Given the description of an element on the screen output the (x, y) to click on. 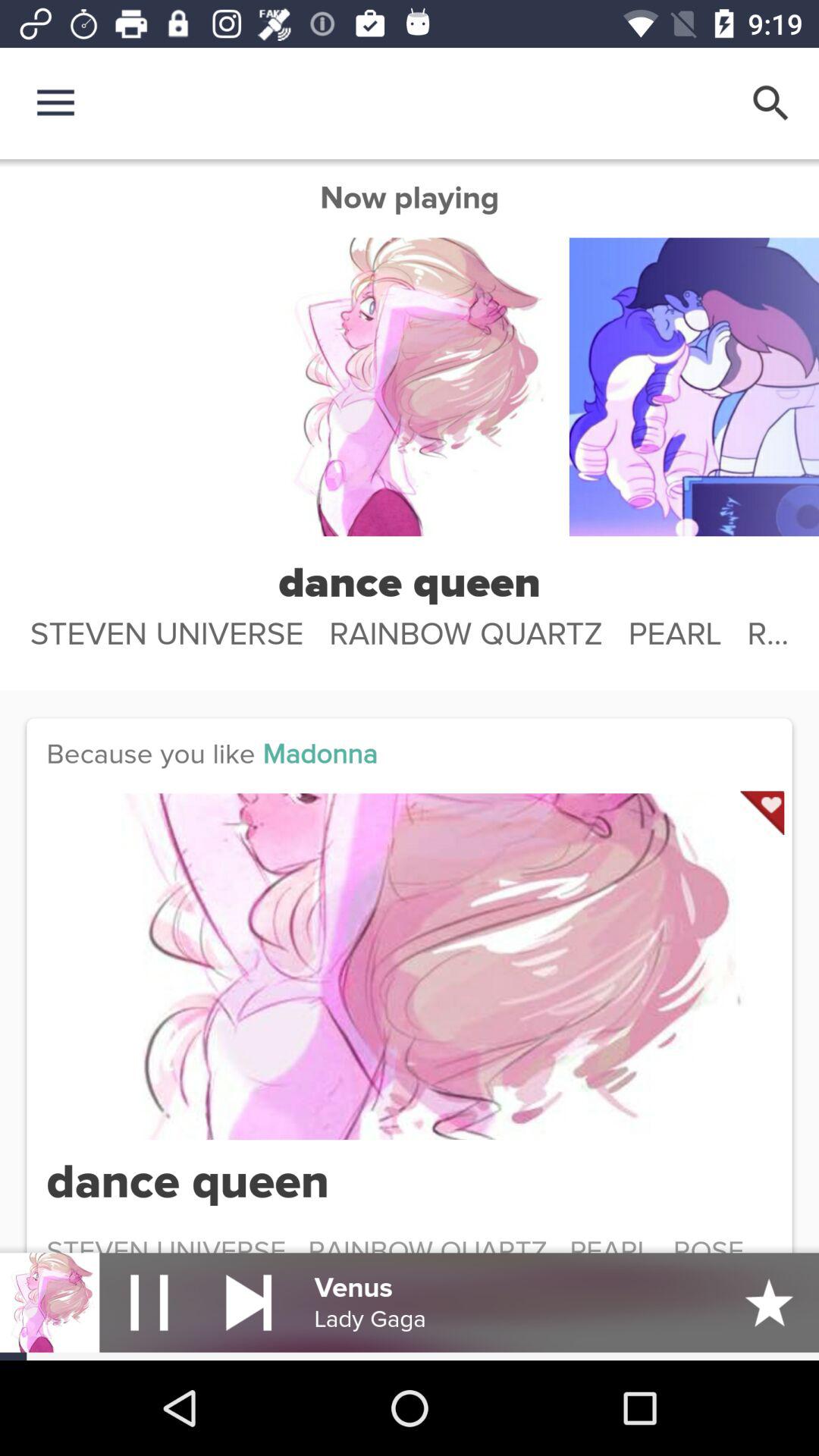
go to the star icon which is right to the venus (769, 1302)
